Given the description of an element on the screen output the (x, y) to click on. 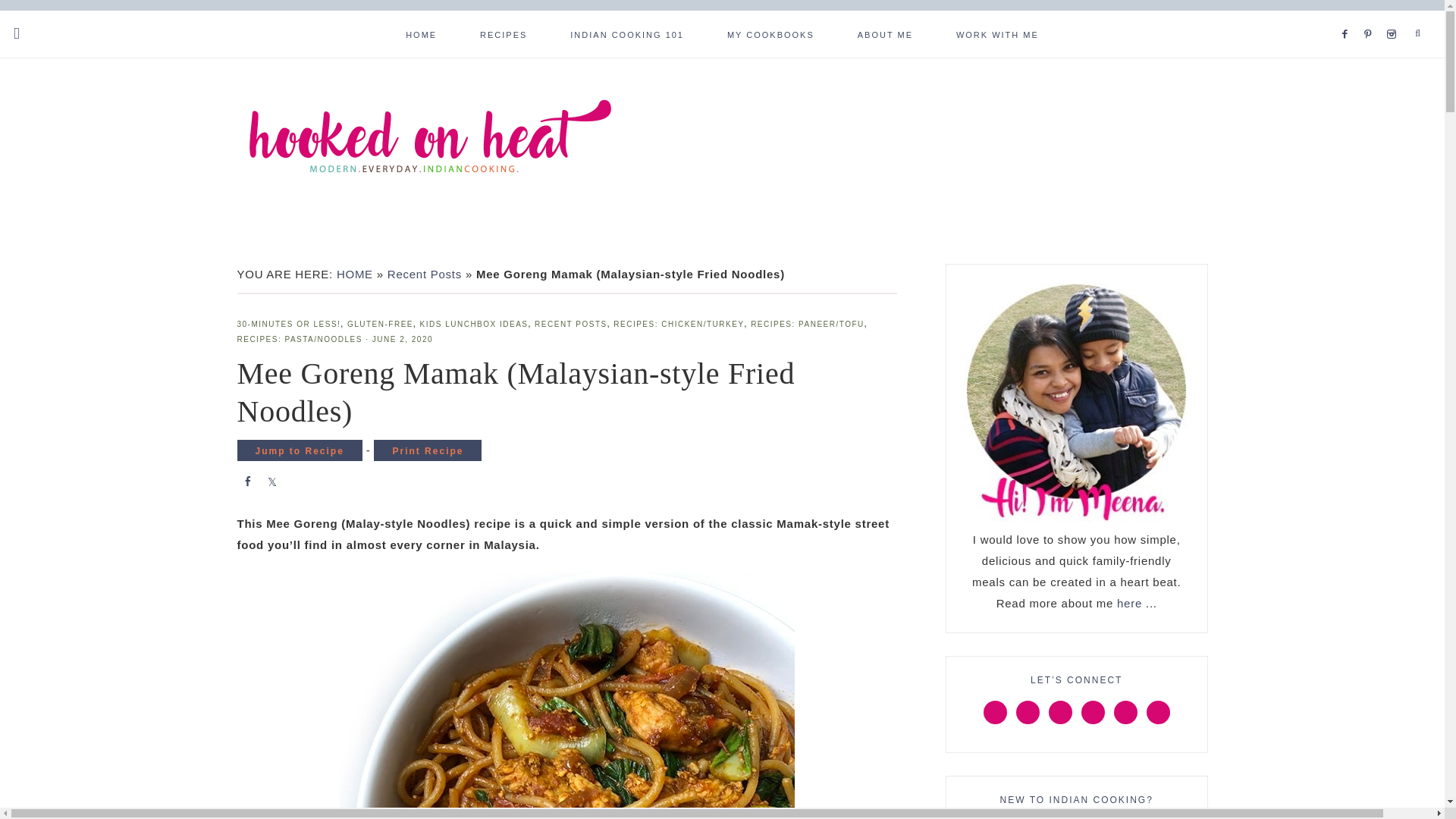
HOOKED ON HEAT (429, 155)
GLUTEN-FREE (380, 324)
Jump to Recipe (298, 451)
Share (244, 479)
WORK WITH ME (997, 33)
Print Recipe (427, 451)
ABOUT ME (885, 33)
HOME (421, 33)
INDIAN COOKING 101 (626, 33)
RECENT POSTS (570, 324)
